Given the description of an element on the screen output the (x, y) to click on. 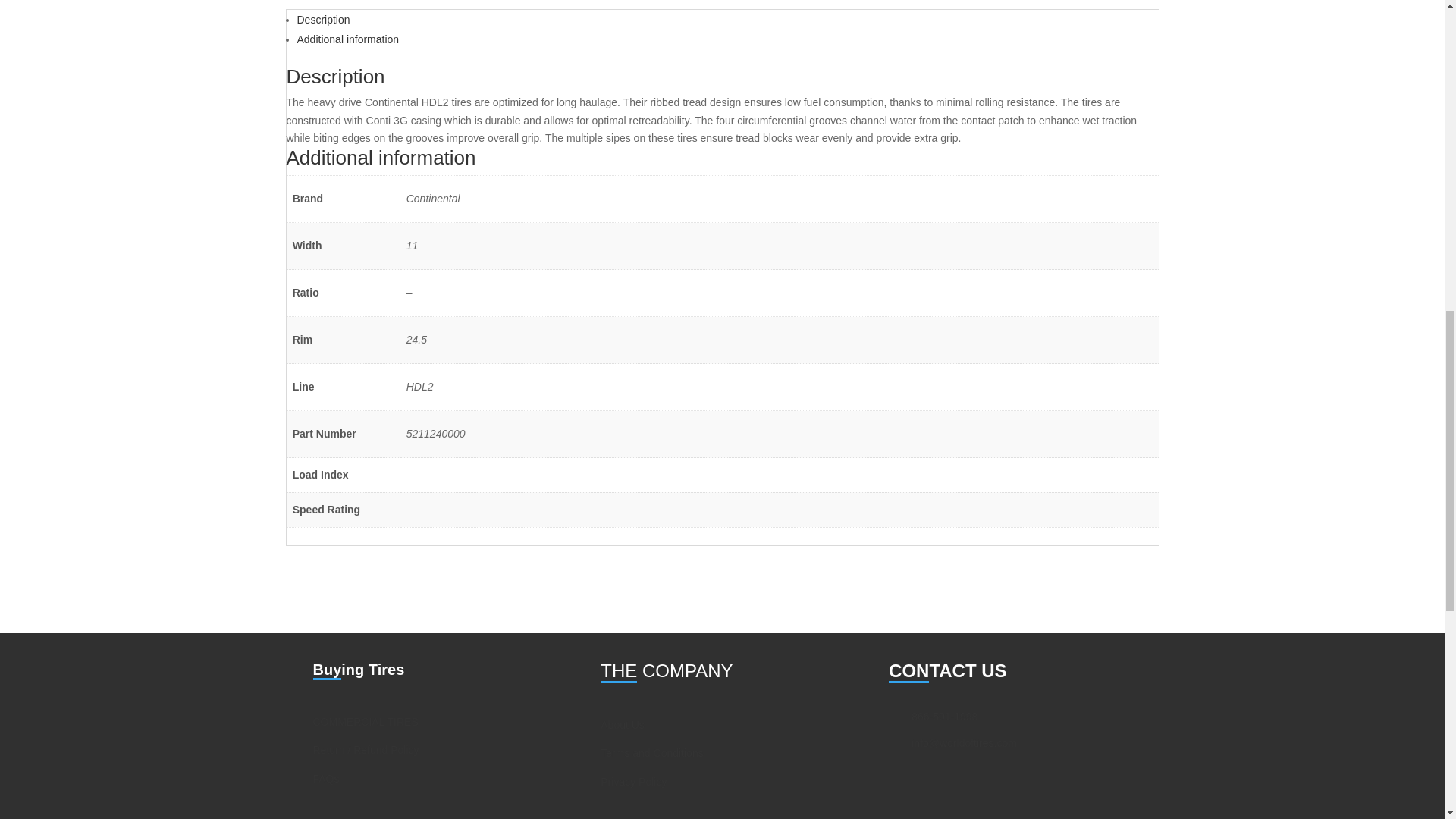
866-501-1998 (943, 716)
Terms and Conditions (651, 752)
About Us (622, 725)
FAQs (326, 778)
COMMERCIAL TIRES (365, 721)
Description (323, 19)
Additional information (347, 39)
Privacy Policy (632, 781)
